Given the description of an element on the screen output the (x, y) to click on. 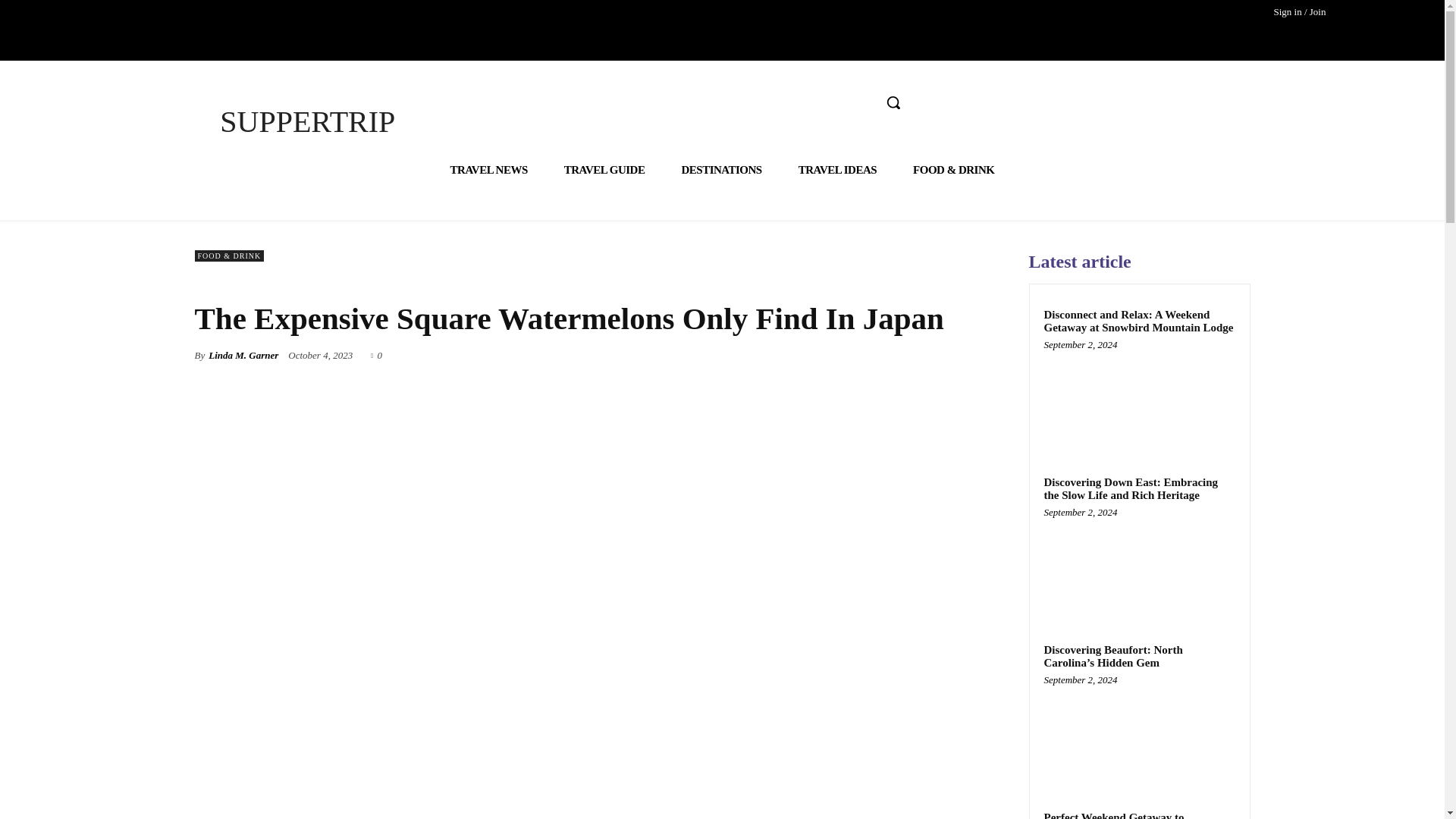
DESTINATIONS (720, 170)
TRAVEL NEWS (489, 170)
SUPPERTRIP (306, 121)
TRAVEL IDEAS (837, 170)
TRAVEL GUIDE (604, 170)
